Given the description of an element on the screen output the (x, y) to click on. 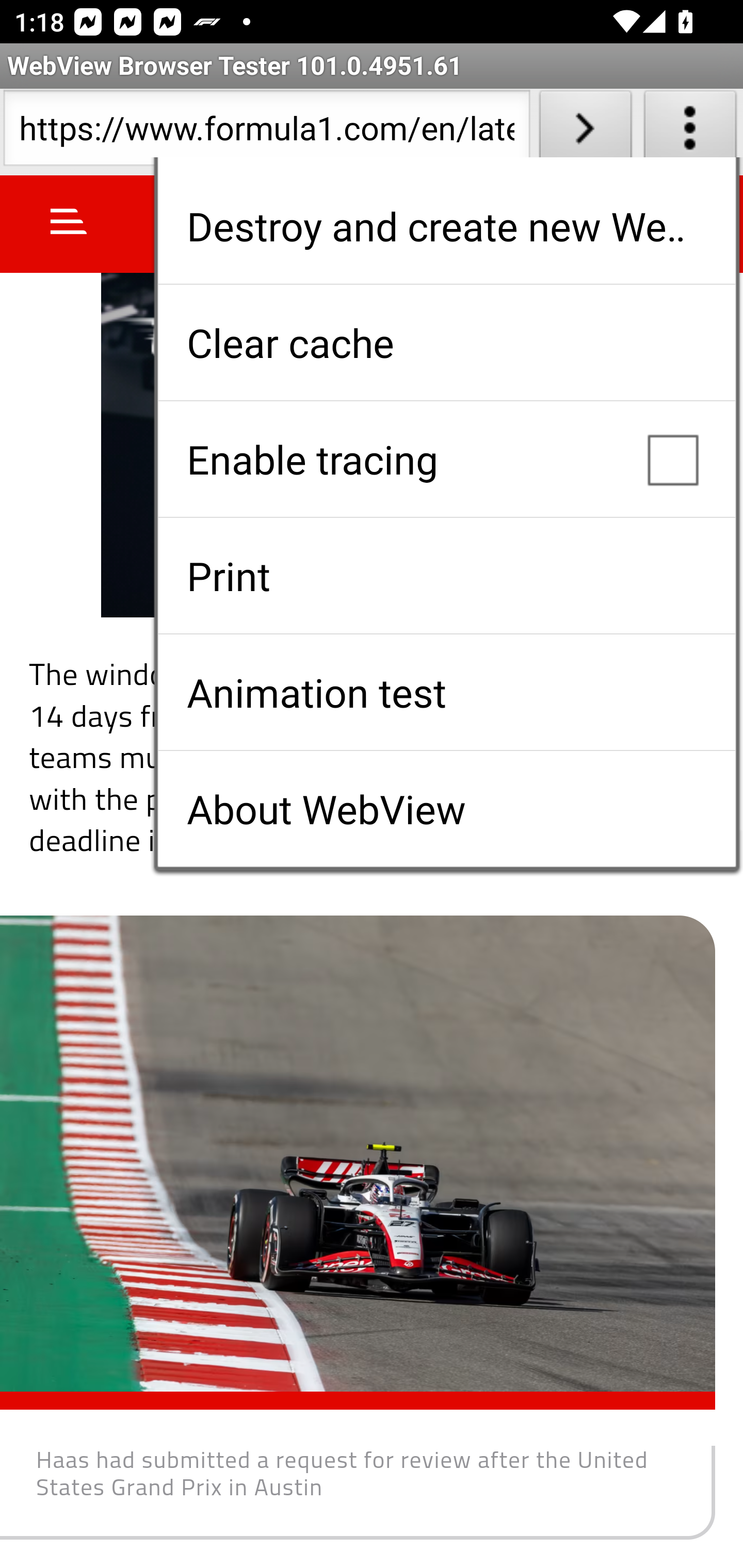
Destroy and create new WebView (446, 225)
Clear cache (446, 342)
Enable tracing (446, 459)
Print (446, 575)
Animation test (446, 692)
About WebView (446, 809)
